Given the description of an element on the screen output the (x, y) to click on. 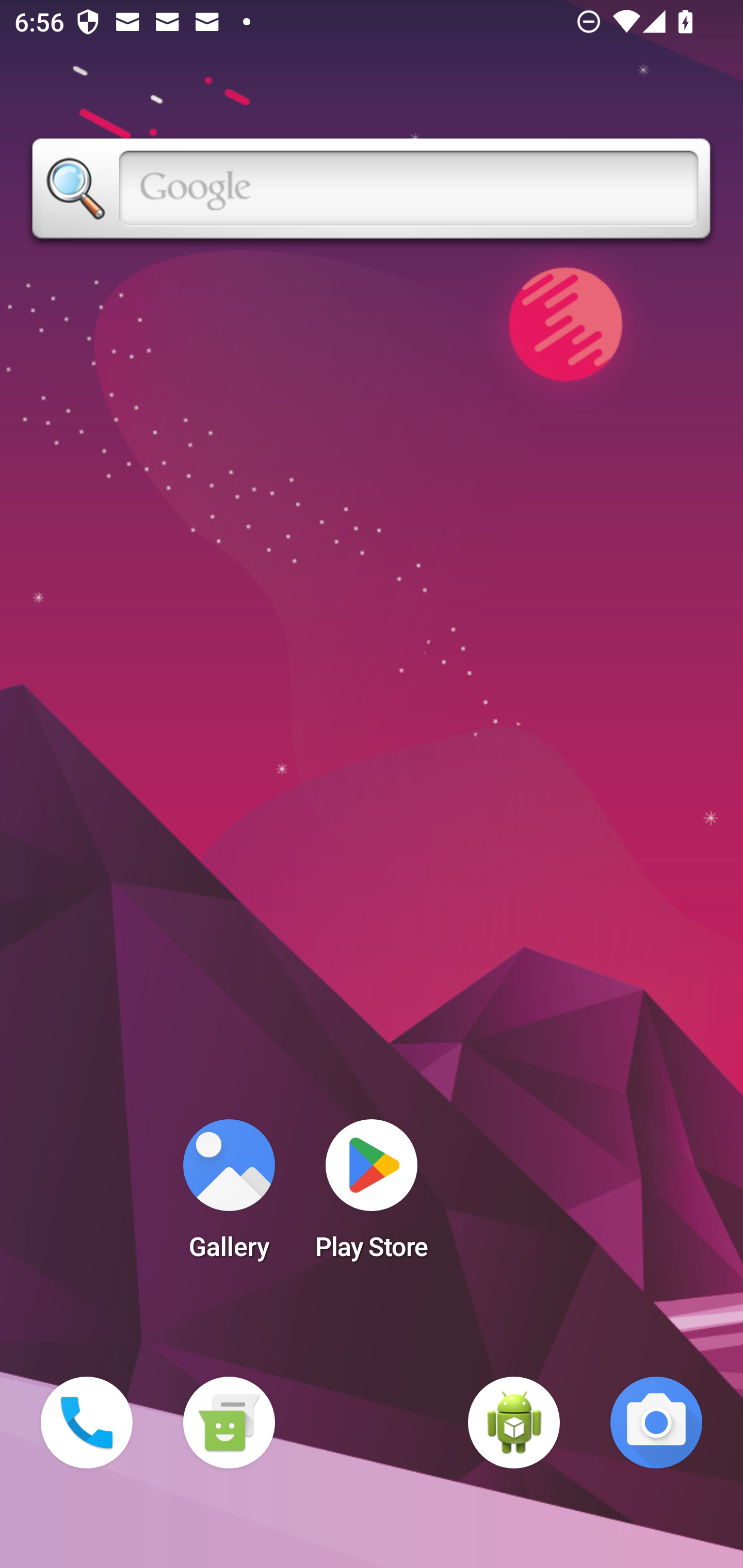
Gallery (228, 1195)
Play Store (371, 1195)
Phone (86, 1422)
Messaging (228, 1422)
WebView Browser Tester (513, 1422)
Camera (656, 1422)
